Given the description of an element on the screen output the (x, y) to click on. 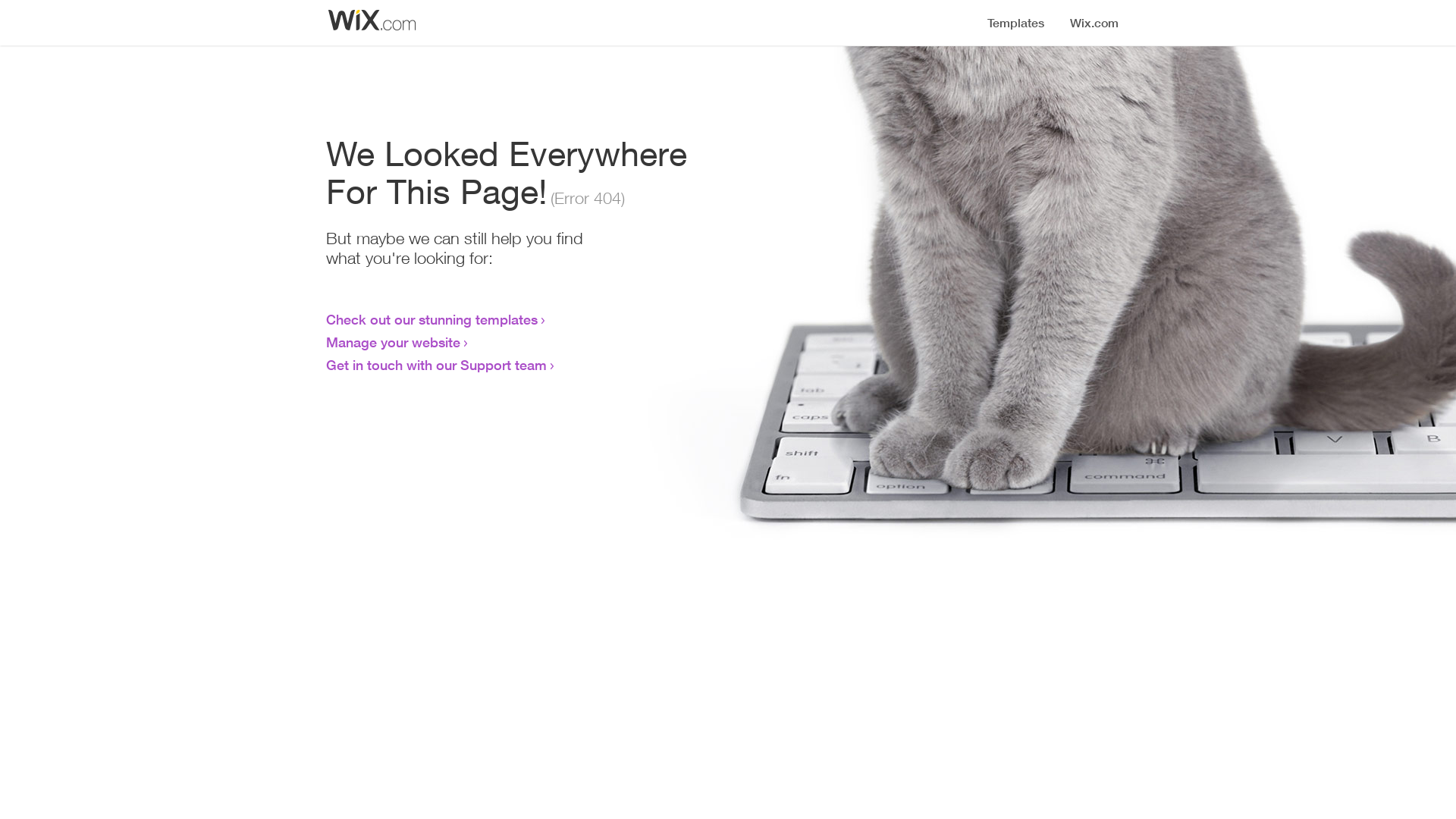
Check out our stunning templates Element type: text (431, 318)
Get in touch with our Support team Element type: text (436, 364)
Manage your website Element type: text (393, 341)
